Given the description of an element on the screen output the (x, y) to click on. 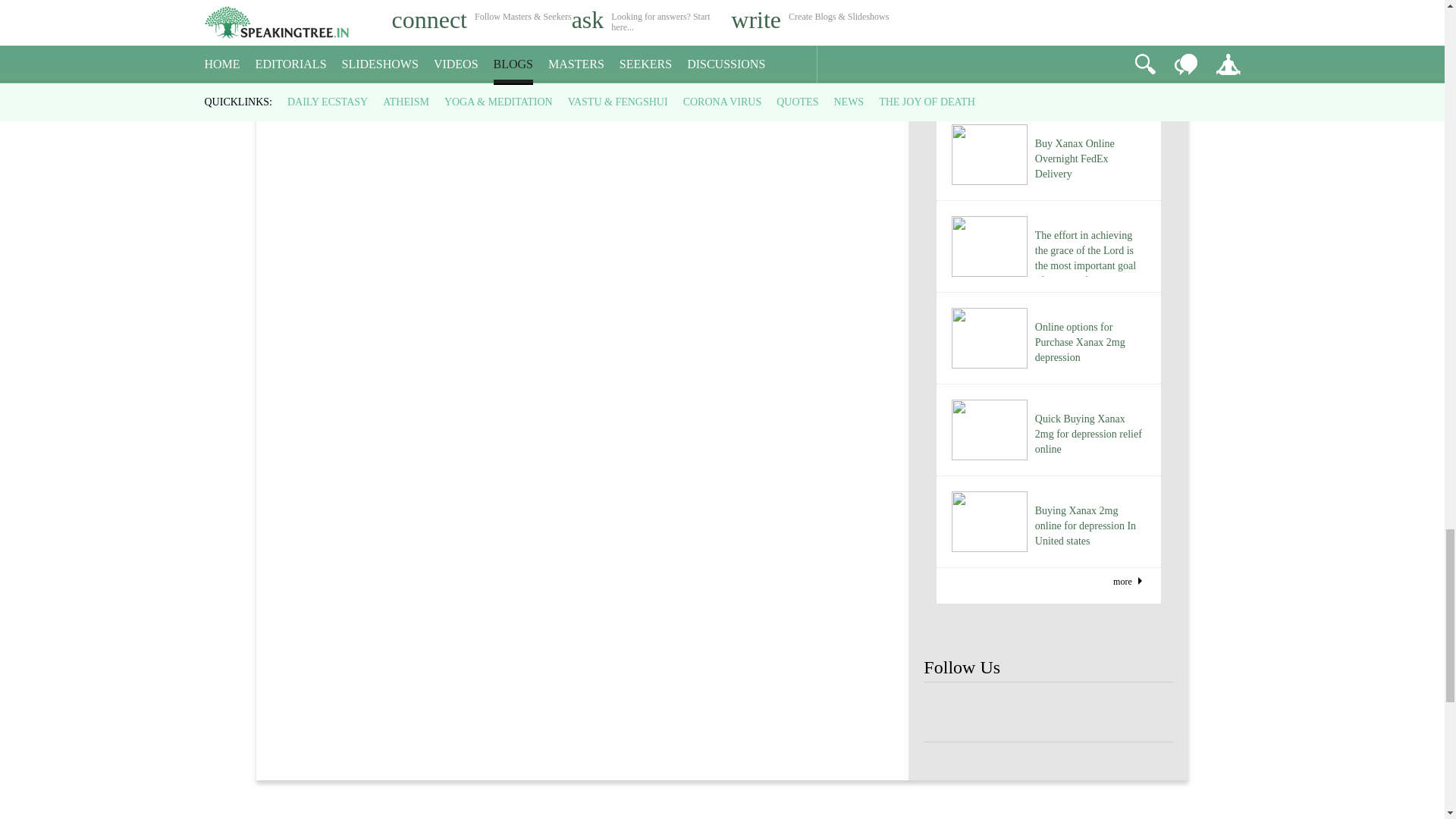
Speaking Tree FaceBook (1147, 712)
Speaking Tree FaceBook (998, 712)
Speaking Tree FaceBook (948, 712)
Speaking Tree FaceBook (1099, 712)
Speaking Tree FaceBook (1048, 712)
